Given the description of an element on the screen output the (x, y) to click on. 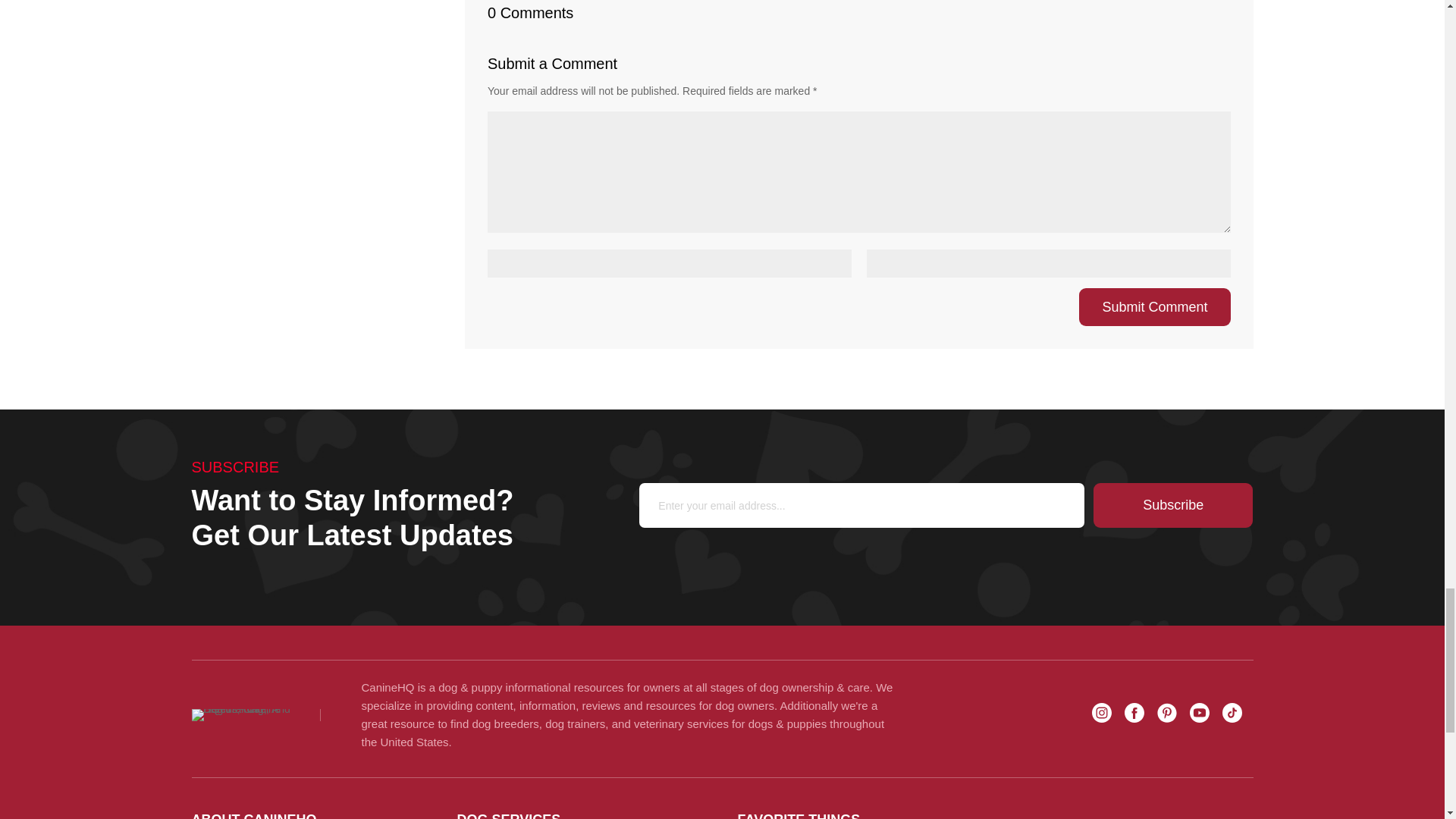
Canine HQ (242, 715)
Follow on Instagram (1102, 712)
Follow on Facebook (1133, 712)
